Given the description of an element on the screen output the (x, y) to click on. 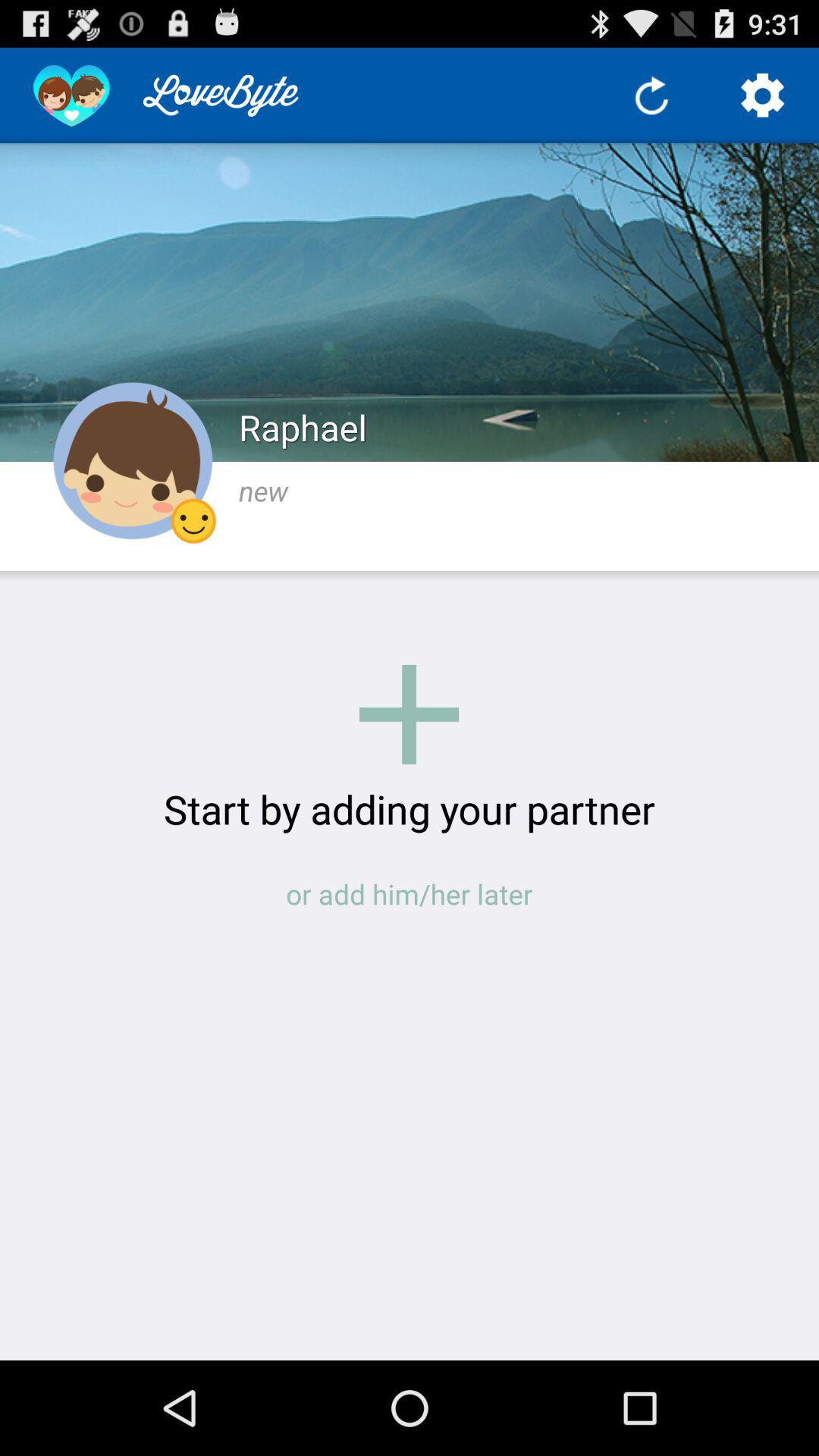
press the item next to raphael app (132, 460)
